Given the description of an element on the screen output the (x, y) to click on. 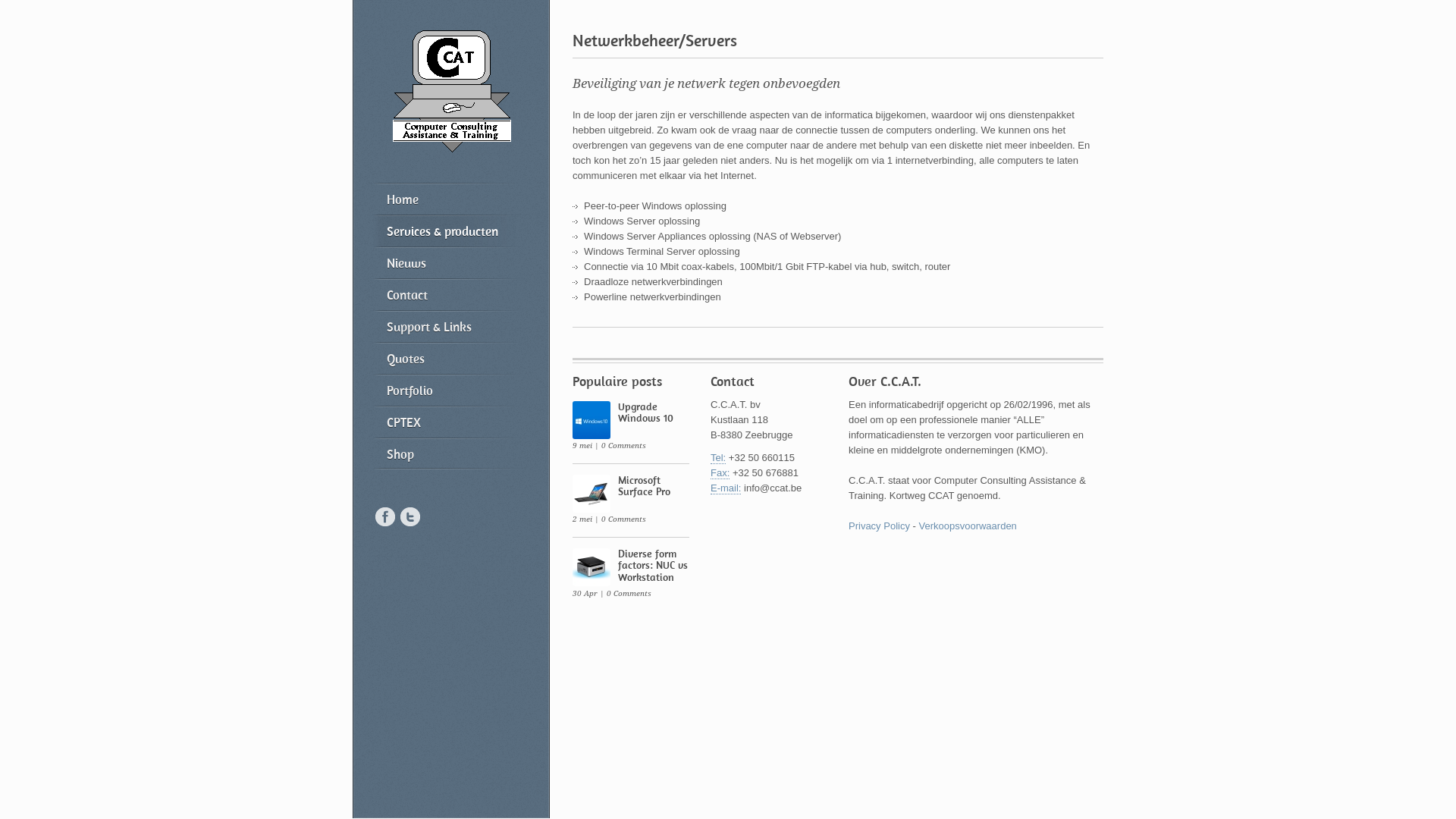
CPTEX Element type: text (447, 421)
Shop Element type: text (447, 453)
0 Comments Element type: text (623, 518)
Portfolio Element type: text (447, 389)
Support & Links Element type: text (447, 326)
Diverse form factors: NUC vs Workstation Element type: text (652, 564)
0 Comments Element type: text (628, 593)
0 Comments Element type: text (623, 445)
Upgrade Windows 10 Element type: text (645, 411)
Services & producten Element type: text (447, 230)
Contact Element type: text (447, 294)
Nieuws Element type: text (447, 262)
Microsoft Surface Pro Element type: text (644, 485)
Quotes Element type: text (447, 357)
Privacy Policy Element type: text (879, 525)
Home Element type: text (447, 198)
Verkoopsvoorwaarden Element type: text (967, 525)
